Given the description of an element on the screen output the (x, y) to click on. 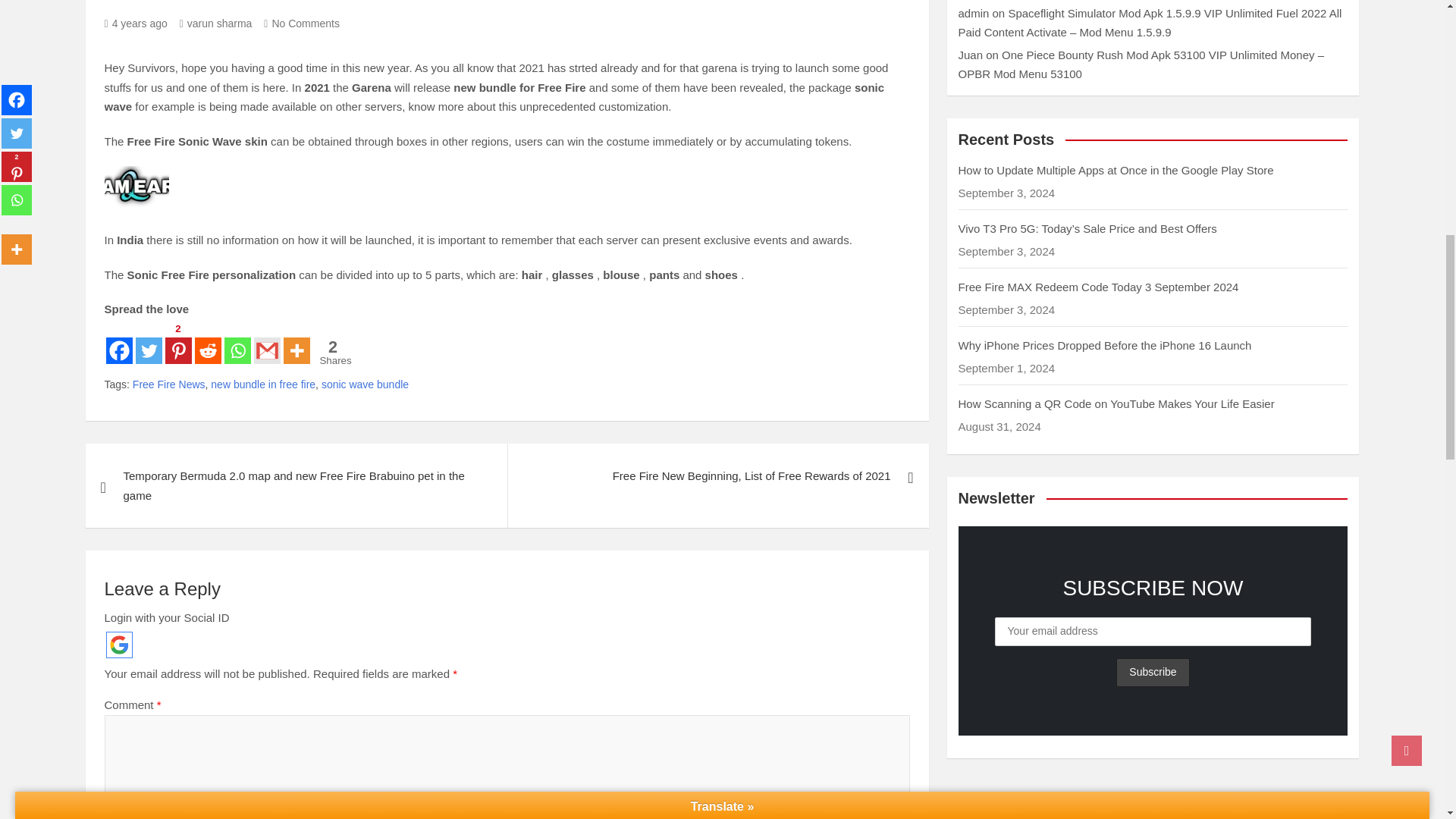
varun sharma (215, 23)
Free Fire Sonic Wave: meet the new Bundle of 2021 (135, 23)
4 years ago (135, 23)
No Comments (301, 23)
Total Shares (333, 352)
Subscribe (1152, 672)
